Given the description of an element on the screen output the (x, y) to click on. 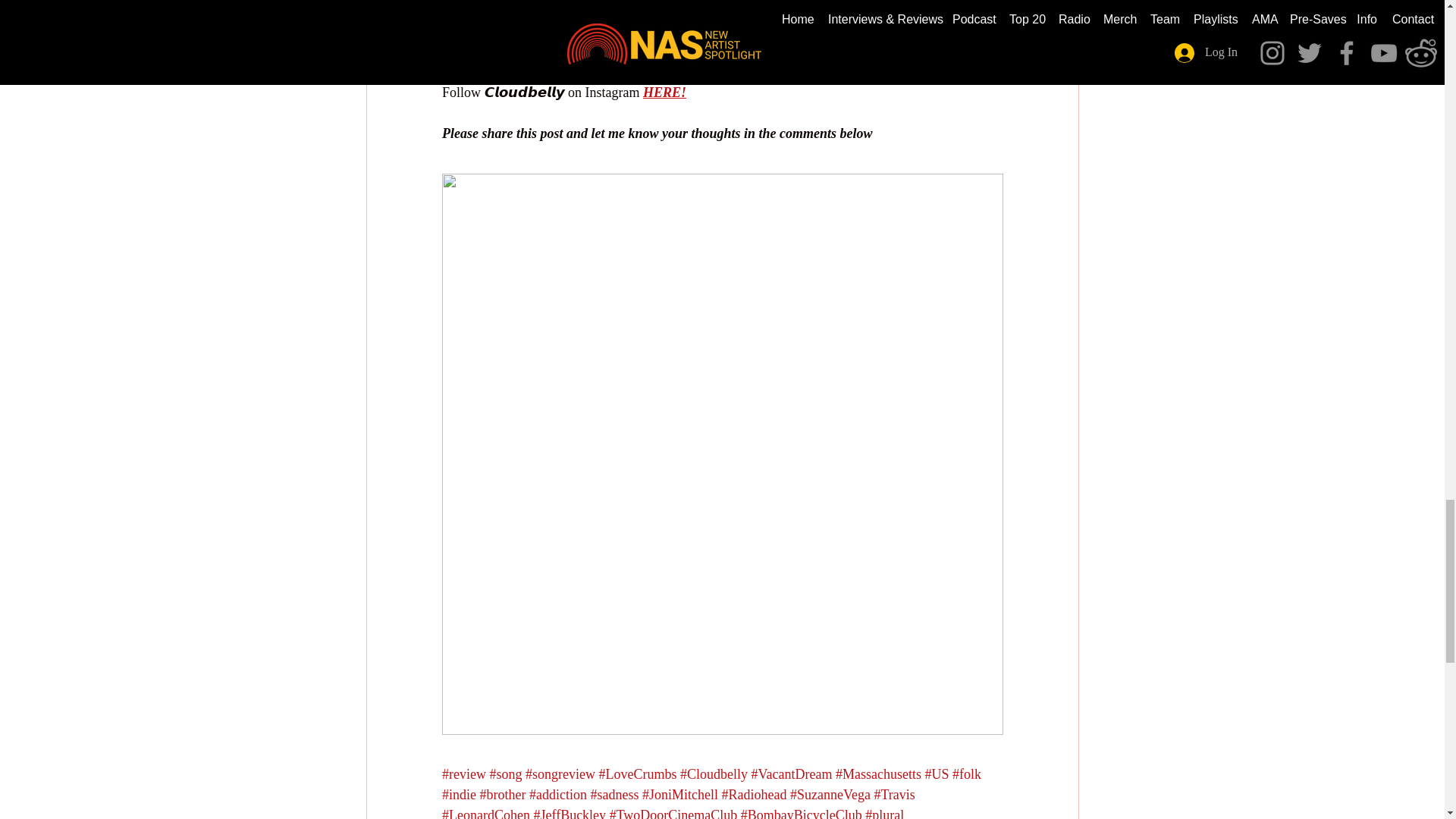
HERE! (664, 92)
HERE! (887, 10)
HERE! (682, 71)
HERE! (917, 30)
